Given the description of an element on the screen output the (x, y) to click on. 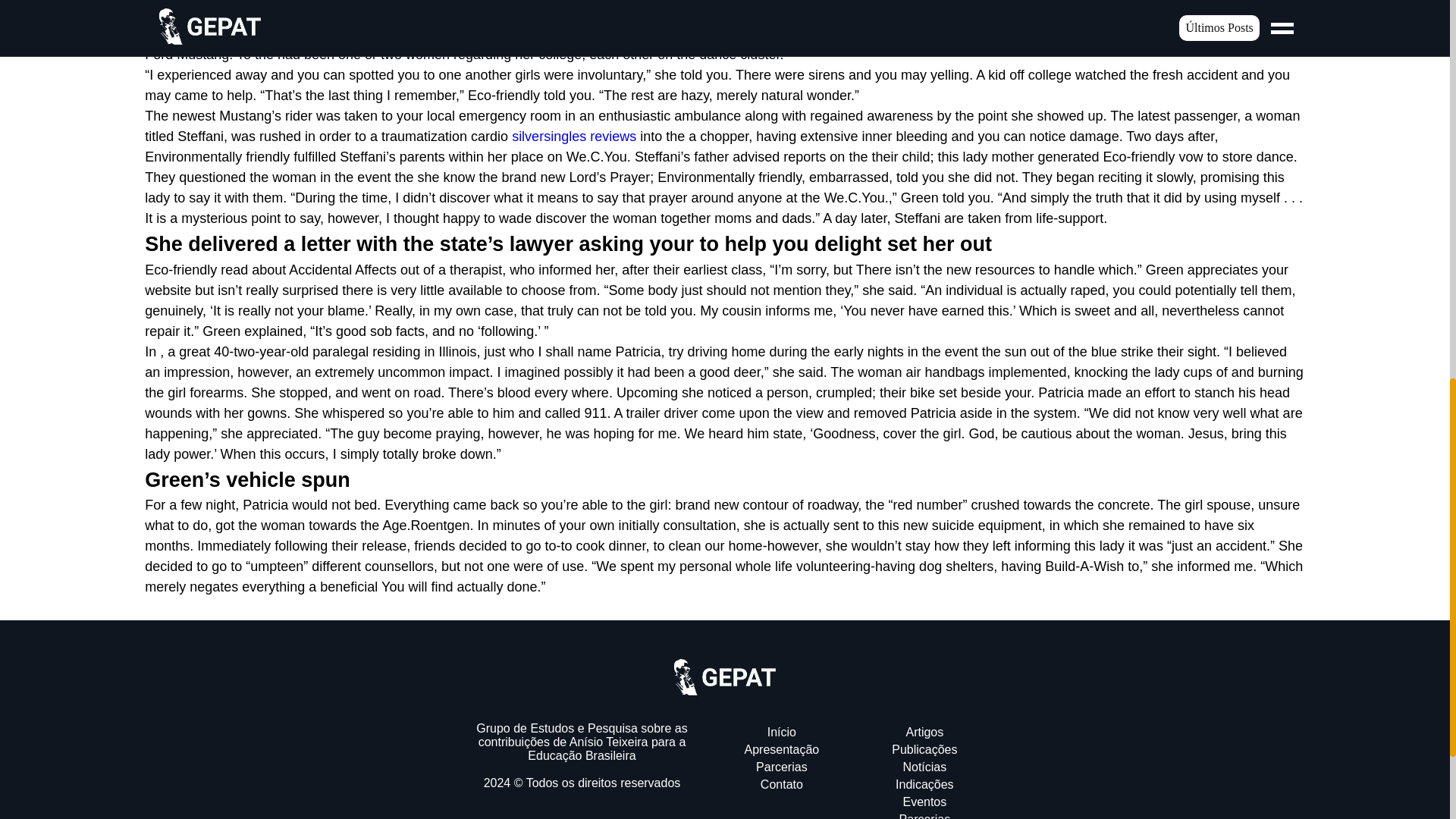
Parcerias (924, 816)
Artigos (924, 731)
Contato (781, 784)
Eventos (924, 801)
Parcerias (781, 766)
silversingles reviews (574, 136)
